Given the description of an element on the screen output the (x, y) to click on. 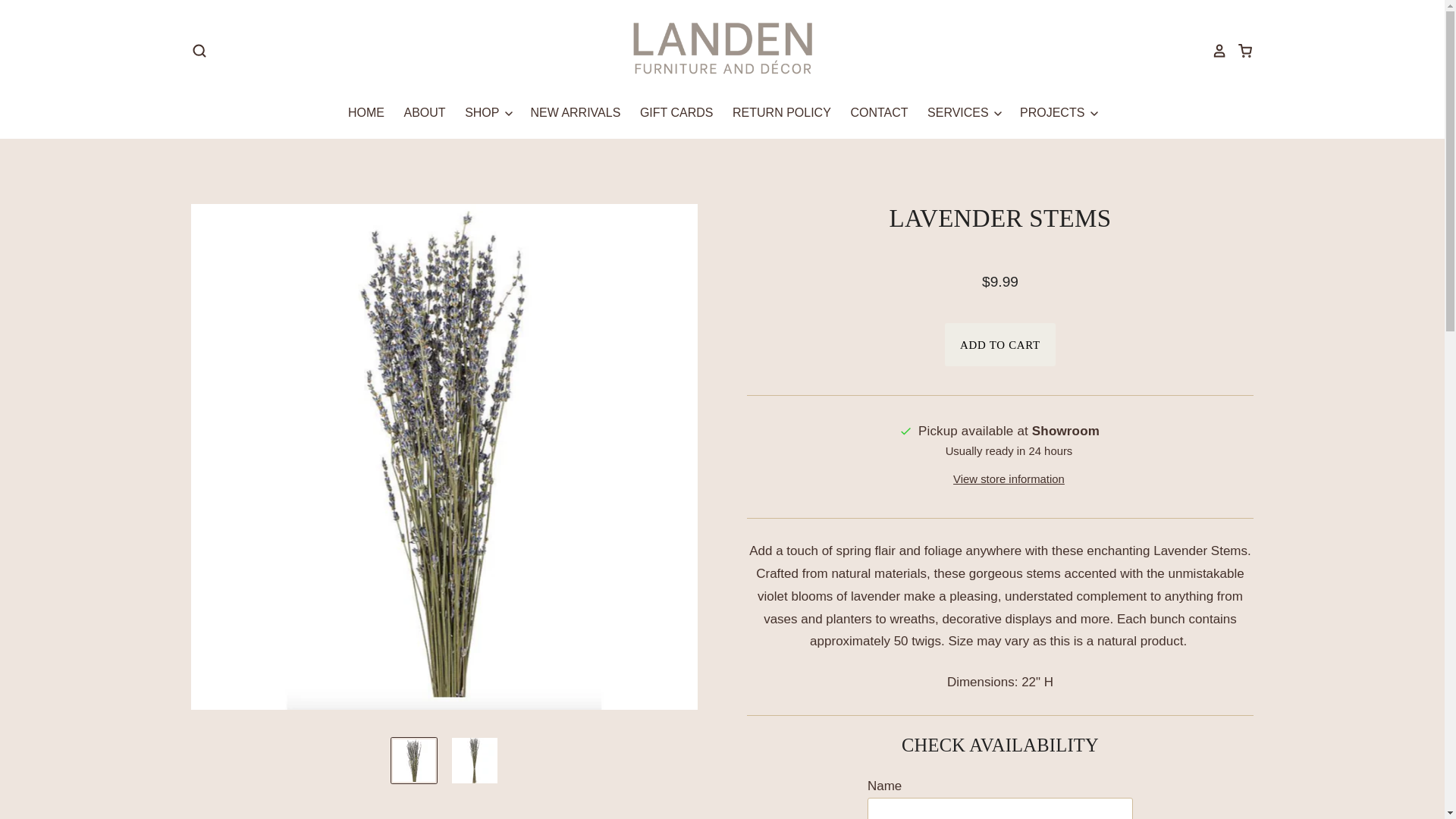
Add to cart (999, 344)
